Given the description of an element on the screen output the (x, y) to click on. 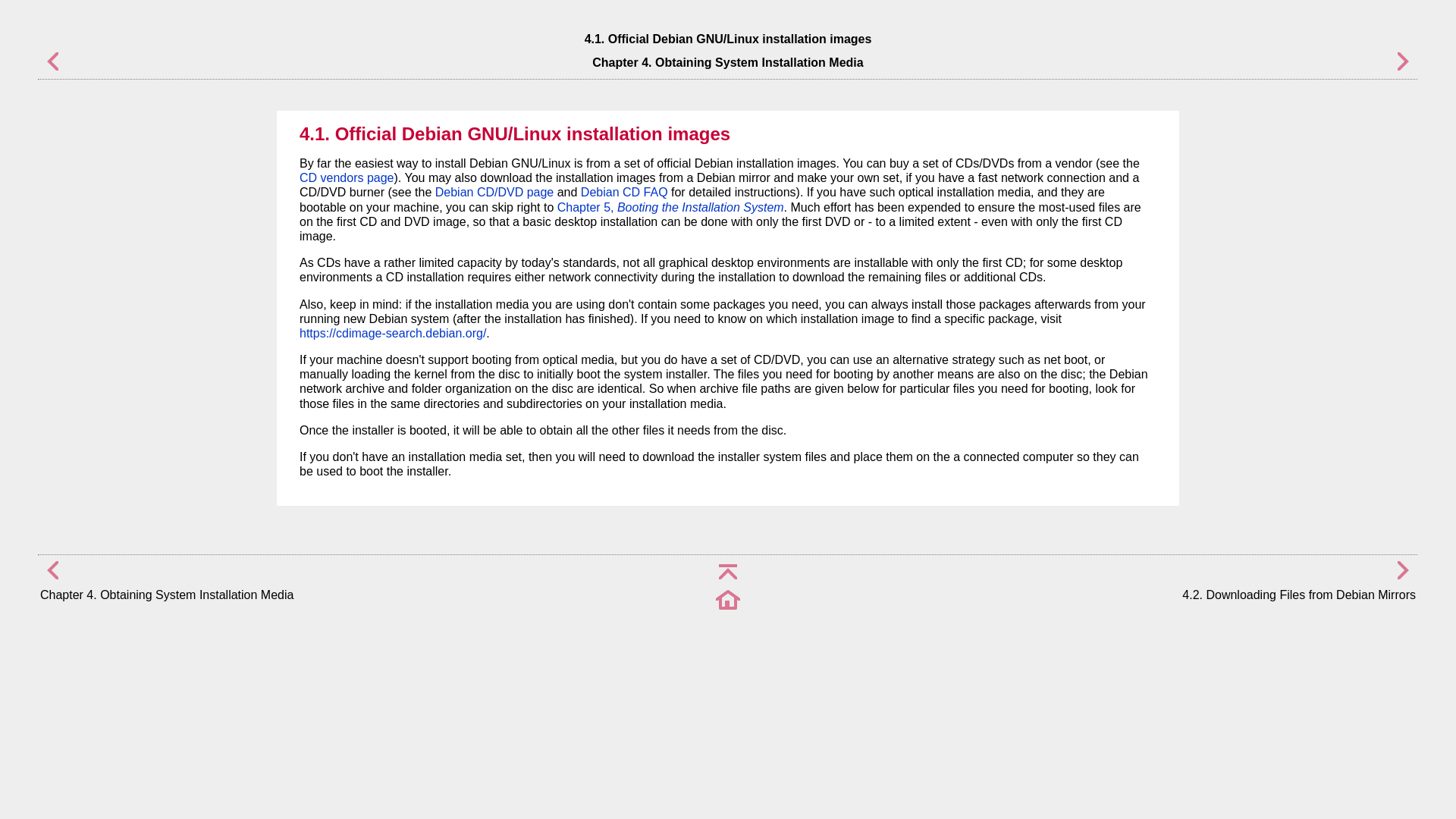
Debian CD FAQ (624, 192)
CD vendors page (346, 177)
Chapter 5, Booting the Installation System (670, 206)
